Given the description of an element on the screen output the (x, y) to click on. 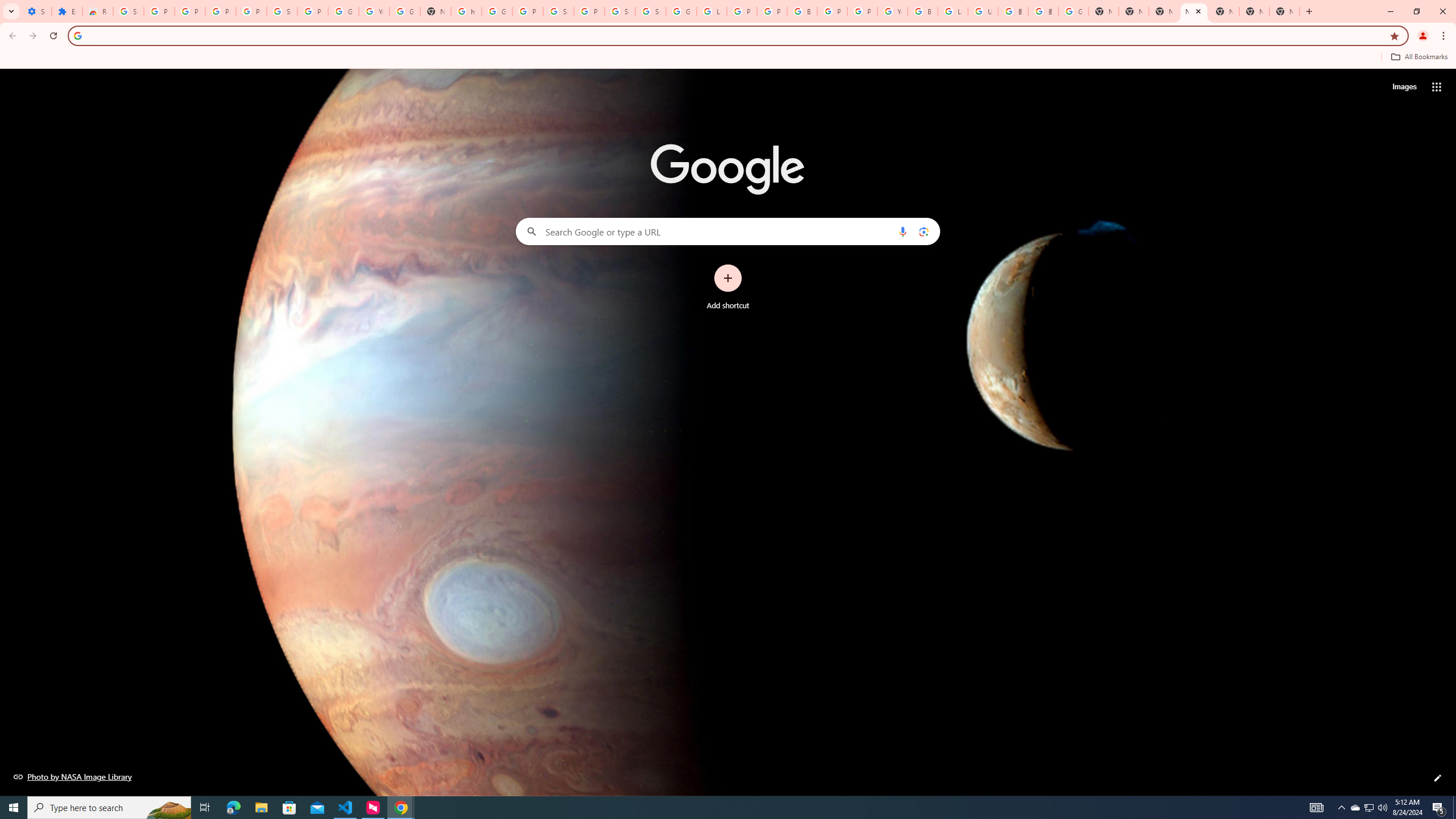
New Tab (1283, 11)
Privacy Help Center - Policies Help (771, 11)
Google Account (343, 11)
Bookmarks (728, 58)
Privacy Help Center - Policies Help (741, 11)
Reviews: Helix Fruit Jump Arcade Game (97, 11)
